Given the description of an element on the screen output the (x, y) to click on. 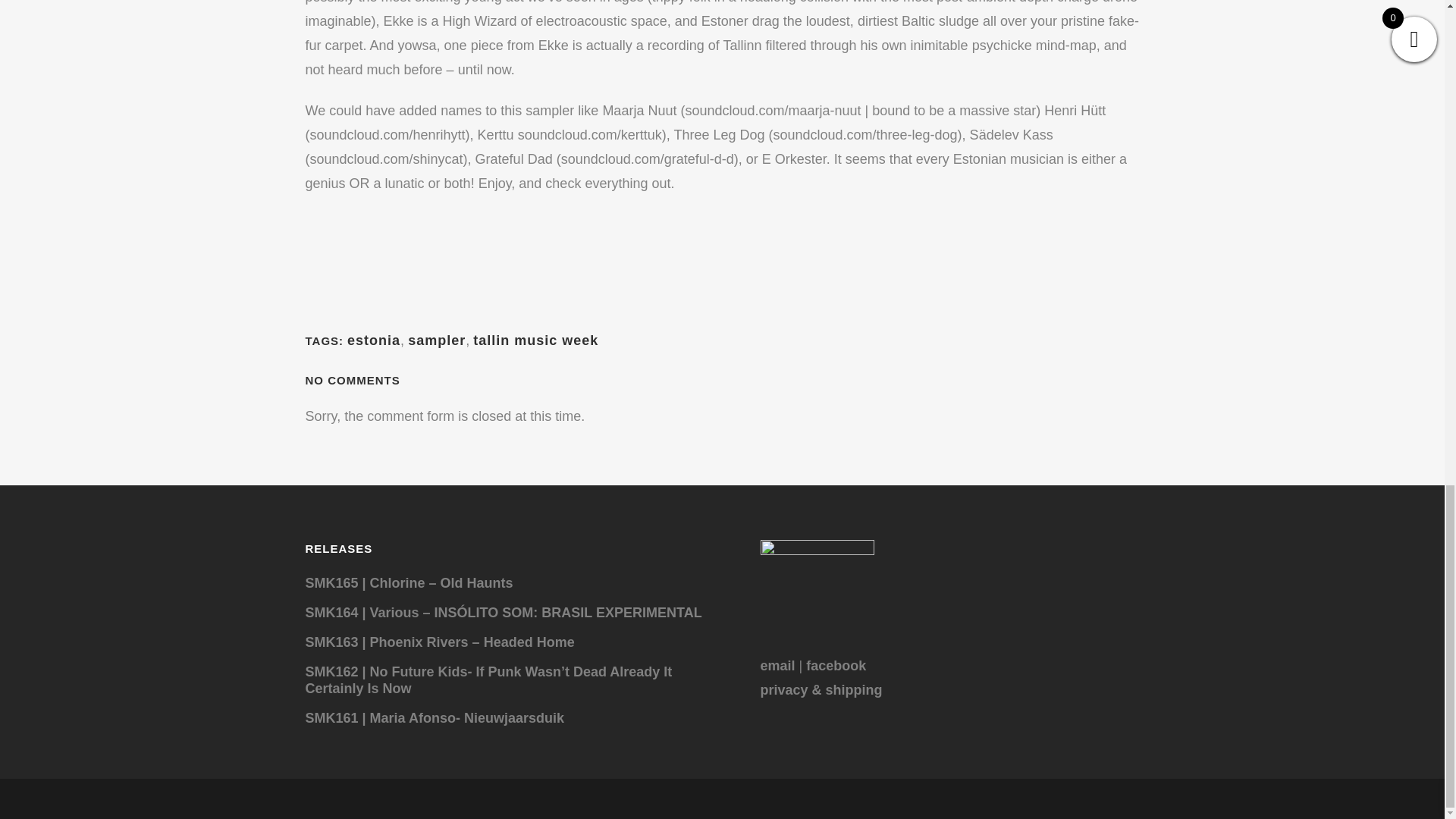
facebook (836, 665)
tallin music week (535, 340)
email (777, 665)
estonia (373, 340)
sampler (436, 340)
